Given the description of an element on the screen output the (x, y) to click on. 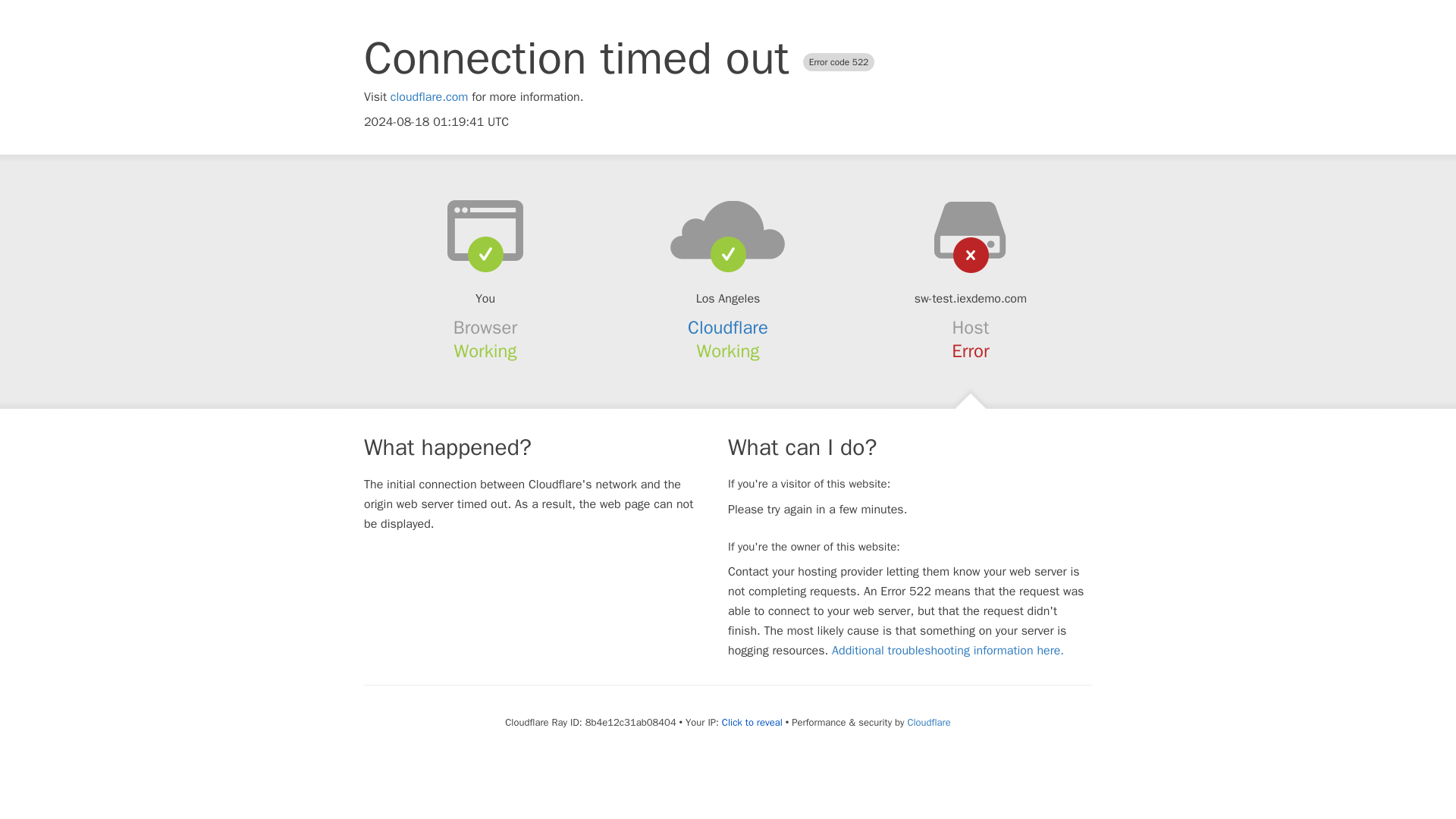
Cloudflare (727, 327)
Click to reveal (752, 722)
Additional troubleshooting information here. (947, 650)
Cloudflare (928, 721)
cloudflare.com (429, 96)
